Given the description of an element on the screen output the (x, y) to click on. 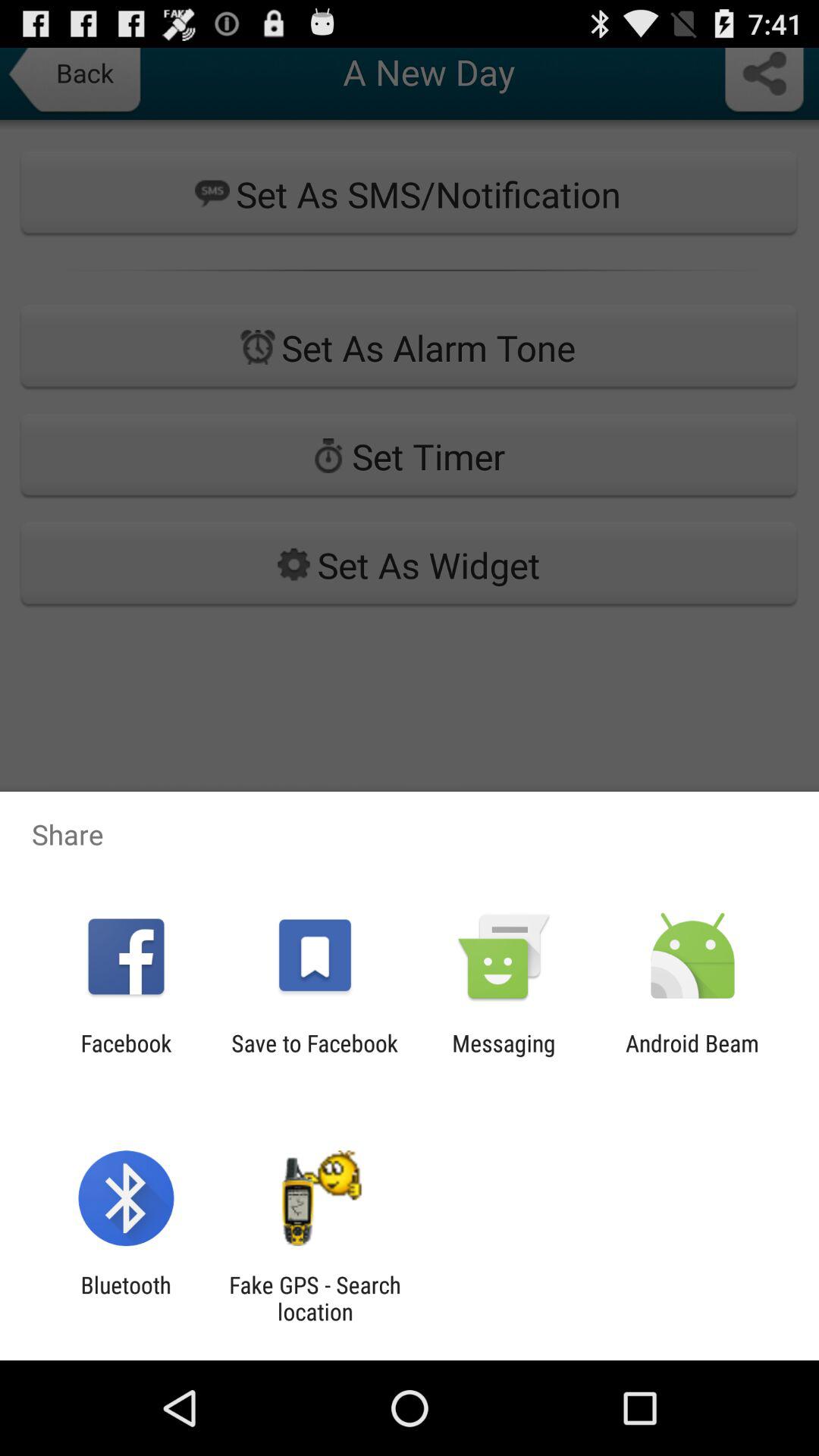
launch the item next to messaging (692, 1056)
